Given the description of an element on the screen output the (x, y) to click on. 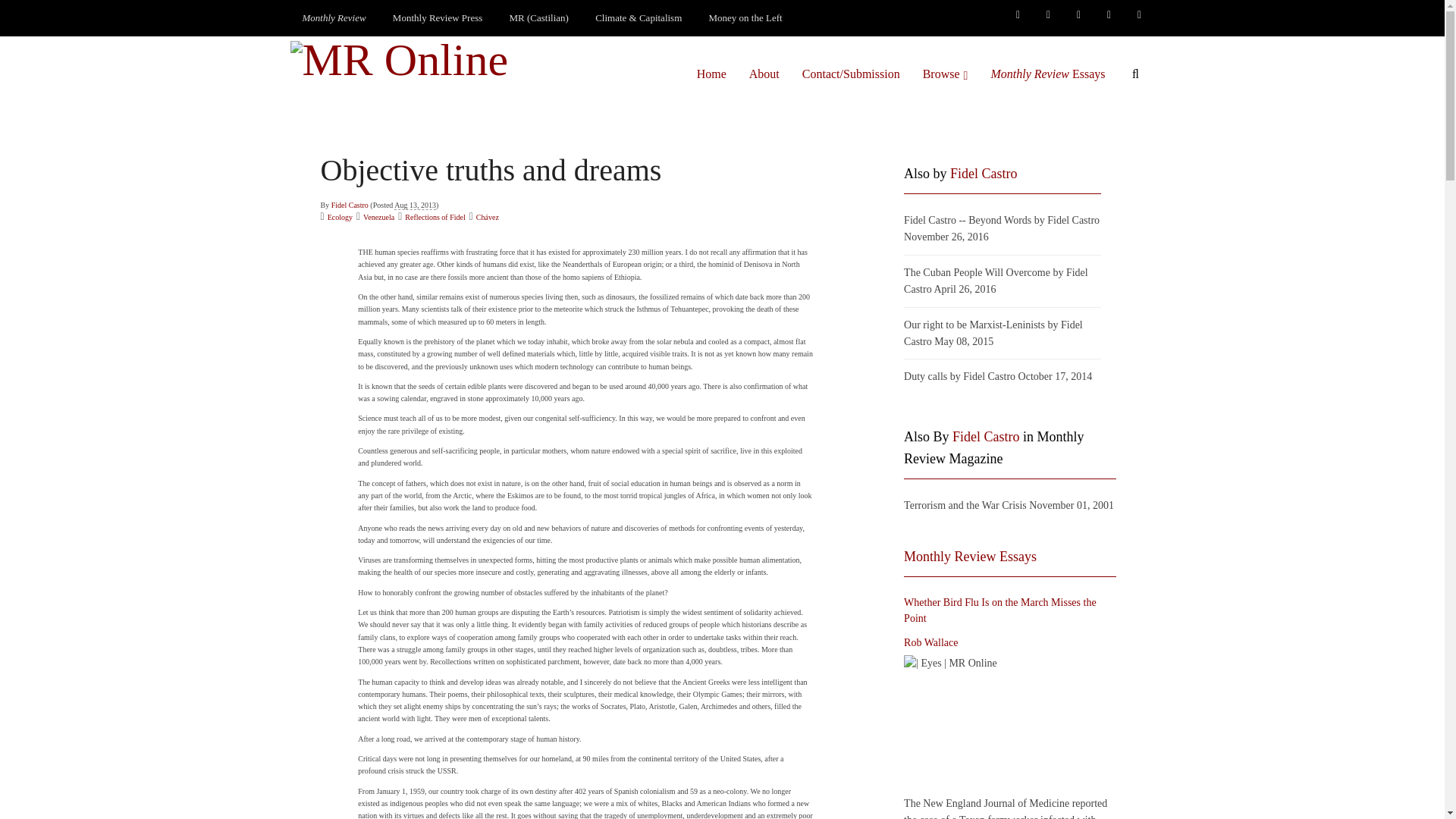
Monthly Review Press (437, 18)
Monthly Review Magazine (333, 18)
Posts by Rob Wallace (931, 642)
Whether Bird Flu Is on the March Misses the Point (1010, 723)
Money on the Left (745, 18)
Monthly Review (333, 18)
Browse (945, 74)
